Given the description of an element on the screen output the (x, y) to click on. 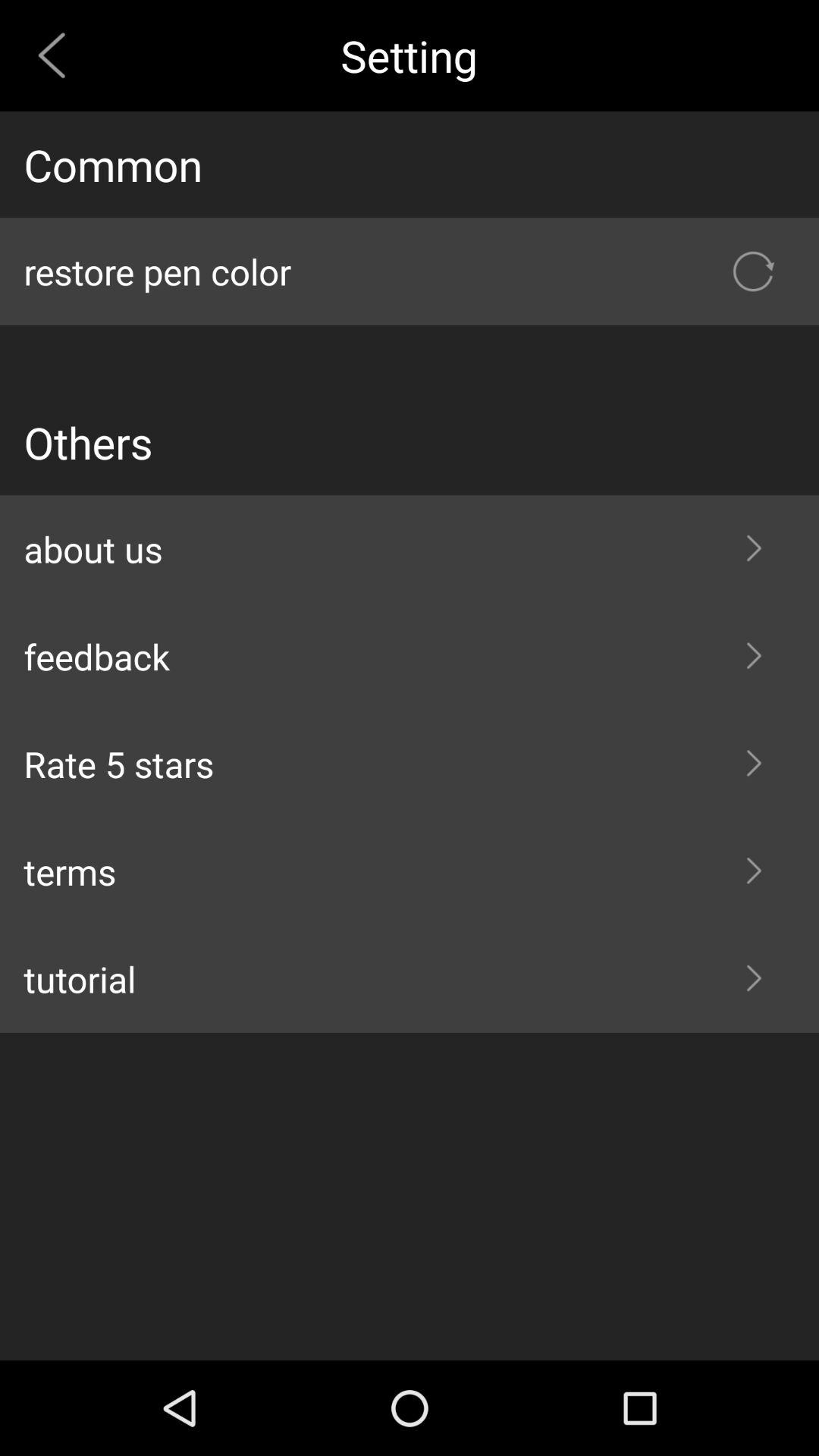
open terms icon (409, 871)
